Given the description of an element on the screen output the (x, y) to click on. 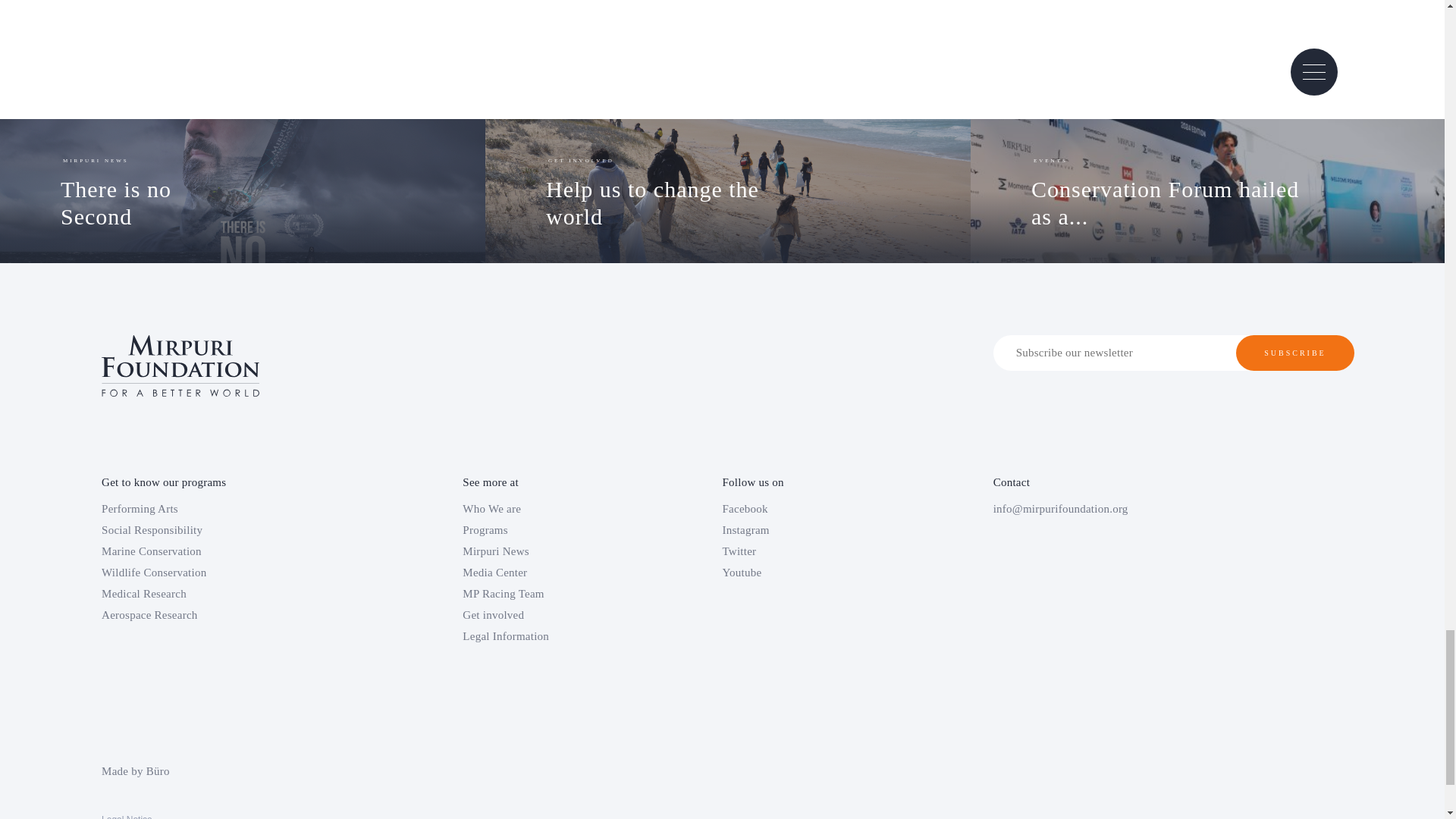
Media Center (684, 190)
Mirpuri News (541, 572)
Aerospace Research (541, 550)
Performing Arts (225, 614)
SUBSCRIBE (225, 508)
Who We are (1295, 352)
Medical Research (541, 508)
Social Responsibility (225, 593)
Wildlife Conservation (225, 529)
Marine Conservation (225, 572)
MP Racing Team (154, 190)
Programs (225, 550)
